Given the description of an element on the screen output the (x, y) to click on. 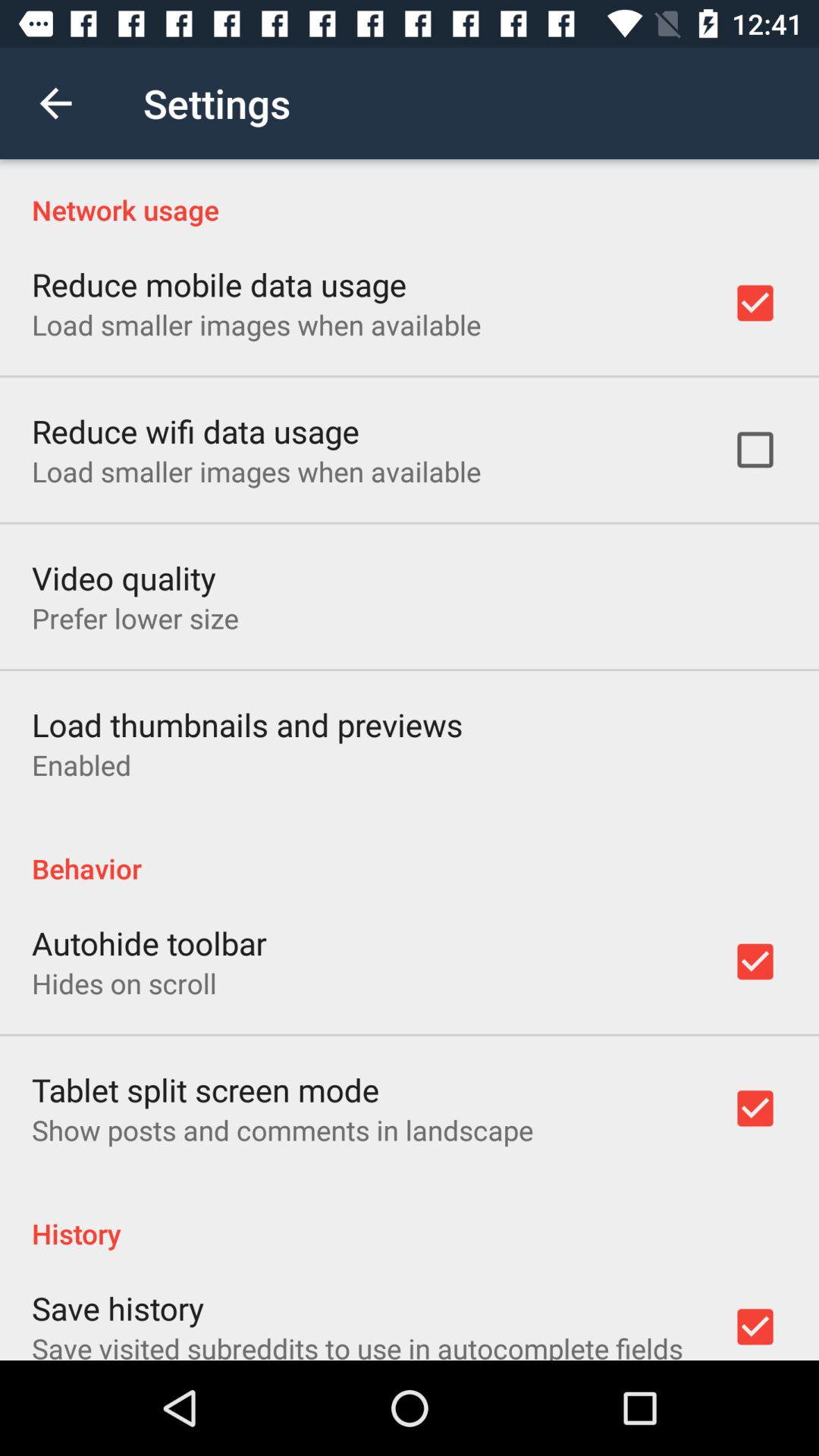
turn off item below video quality icon (134, 618)
